Given the description of an element on the screen output the (x, y) to click on. 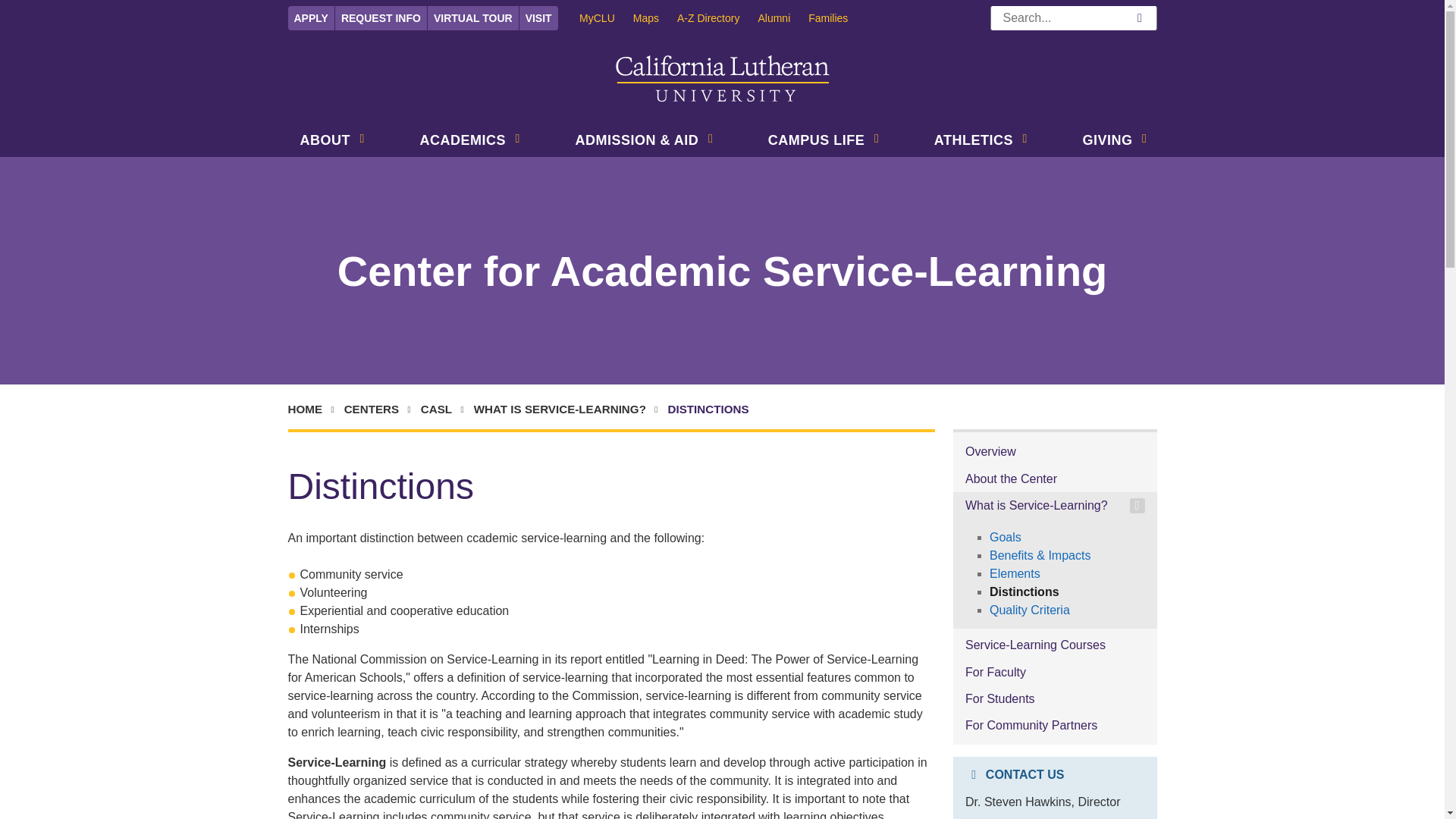
REQUEST INFO (380, 17)
ABOUT (322, 141)
MyCLU (606, 17)
VISIT (538, 17)
A-Z Directory (717, 17)
VIRTUAL TOUR (473, 17)
Families (837, 17)
Alumni (782, 17)
APPLY (311, 17)
Maps (655, 17)
